Given the description of an element on the screen output the (x, y) to click on. 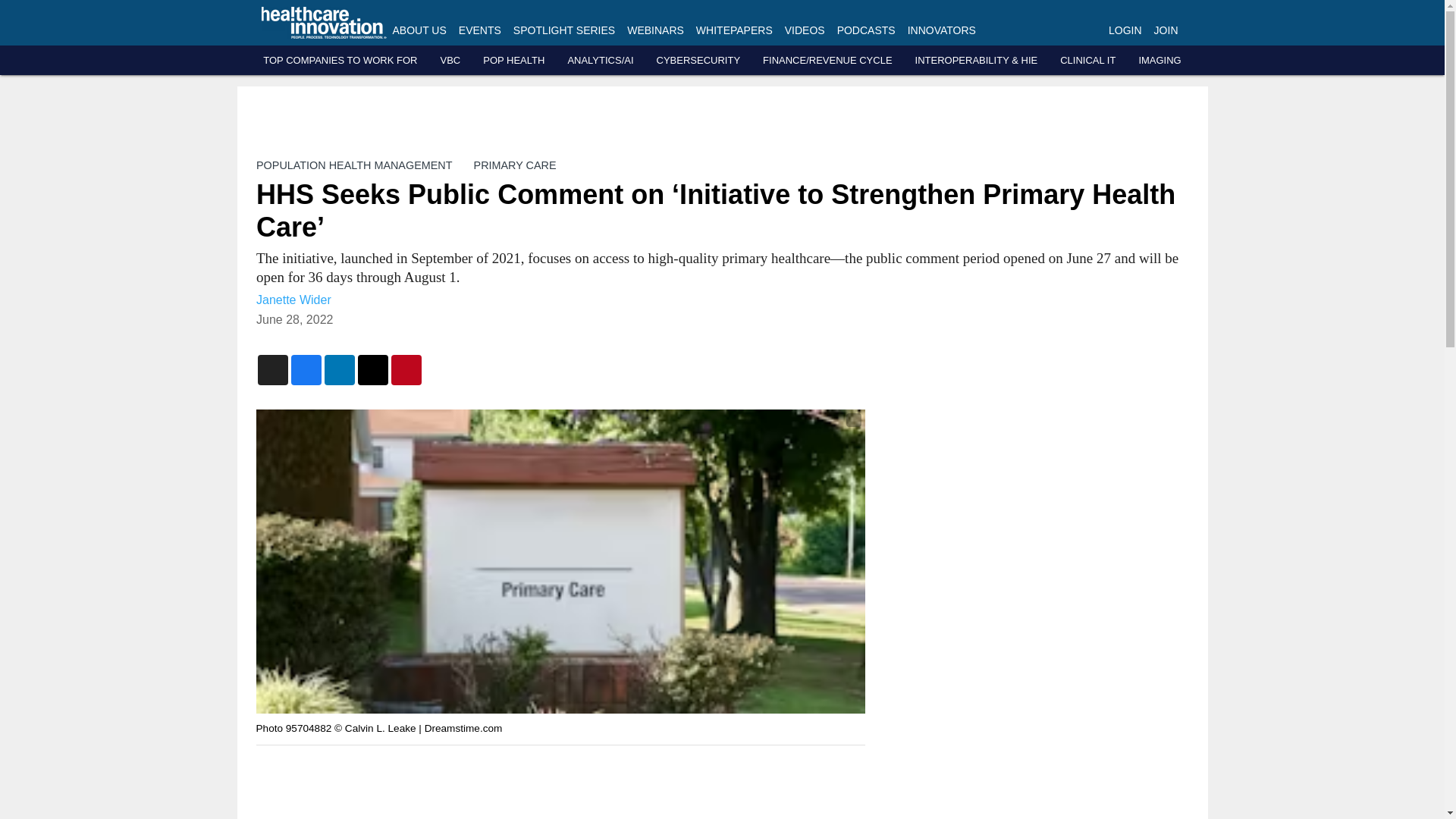
POP HEALTH (513, 60)
SPOTLIGHT SERIES (563, 30)
PODCASTS (866, 30)
ABOUT US (419, 30)
INNOVATORS (941, 30)
EVENTS (479, 30)
VBC (449, 60)
CLINICAL IT (1087, 60)
TOP COMPANIES TO WORK FOR (339, 60)
WEBINARS (655, 30)
JOIN (1165, 30)
LOGIN (1124, 30)
CYBERSECURITY (698, 60)
VIDEOS (804, 30)
IMAGING (1159, 60)
